Given the description of an element on the screen output the (x, y) to click on. 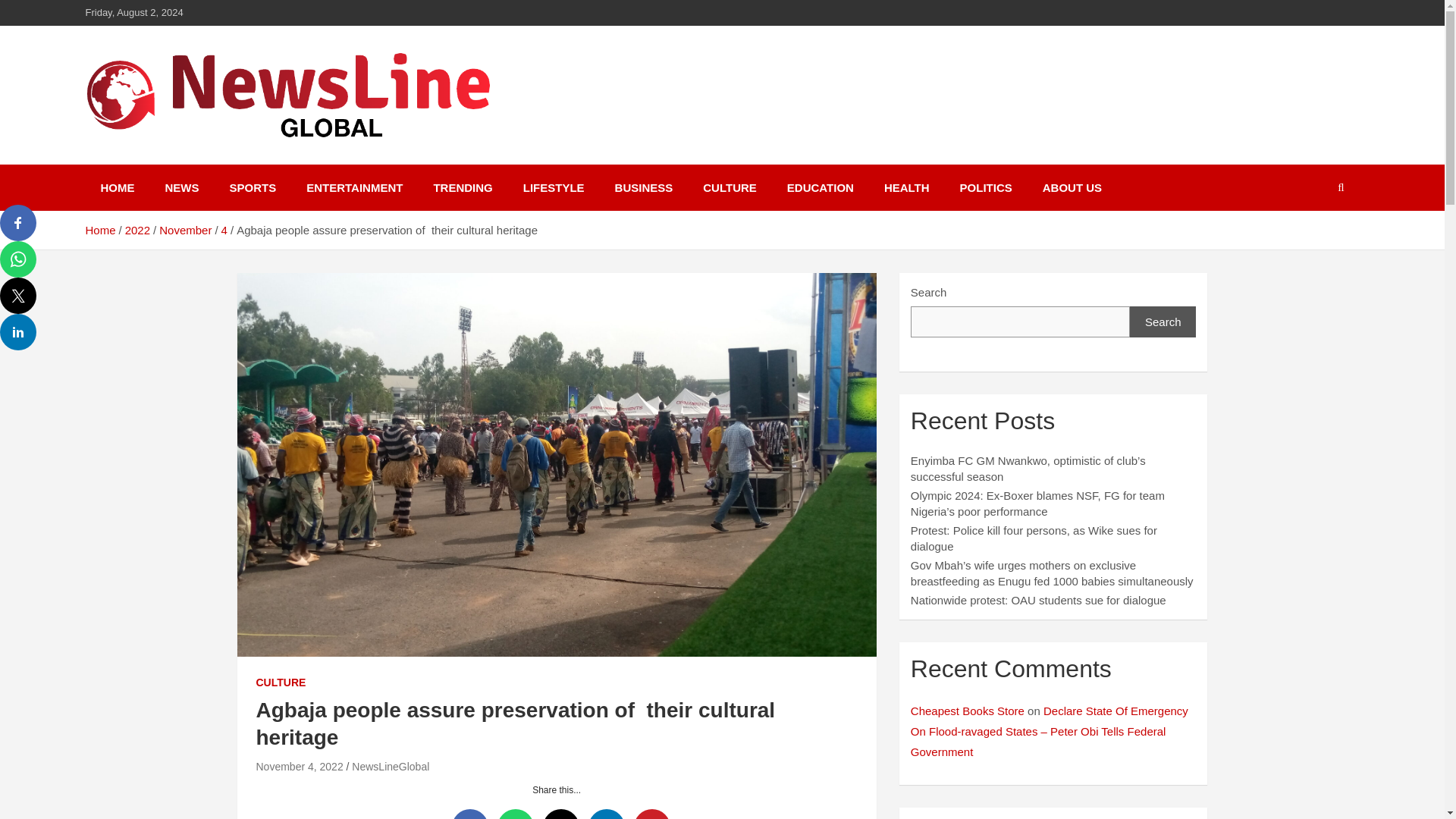
CULTURE (280, 683)
HOME (116, 187)
POLITICS (985, 187)
HEALTH (906, 187)
NewsLineGlobal (202, 161)
Home (99, 229)
BUSINESS (643, 187)
SPORTS (252, 187)
2022 (137, 229)
ENTERTAINMENT (354, 187)
